Given the description of an element on the screen output the (x, y) to click on. 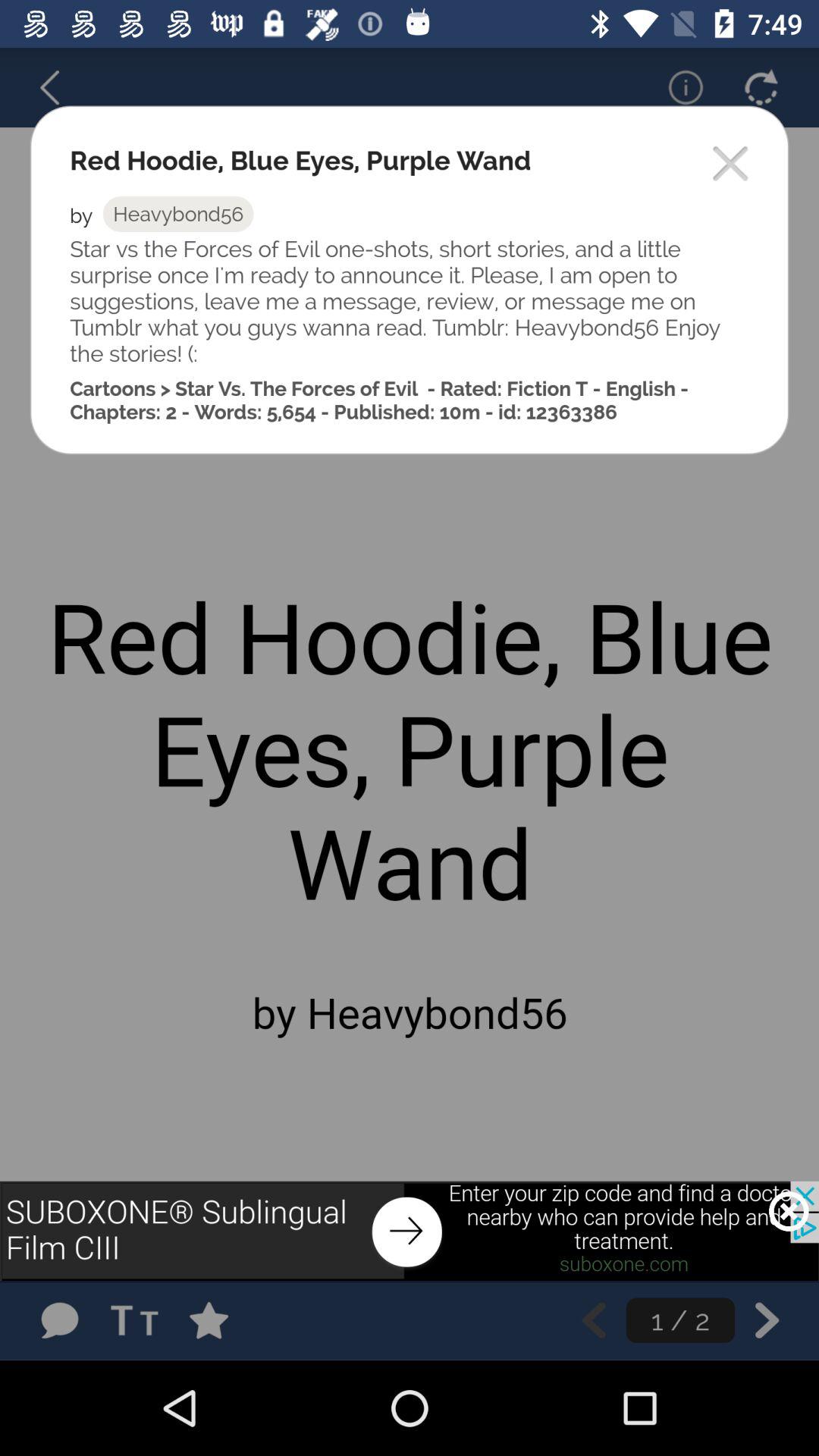
edit font (139, 1320)
